Given the description of an element on the screen output the (x, y) to click on. 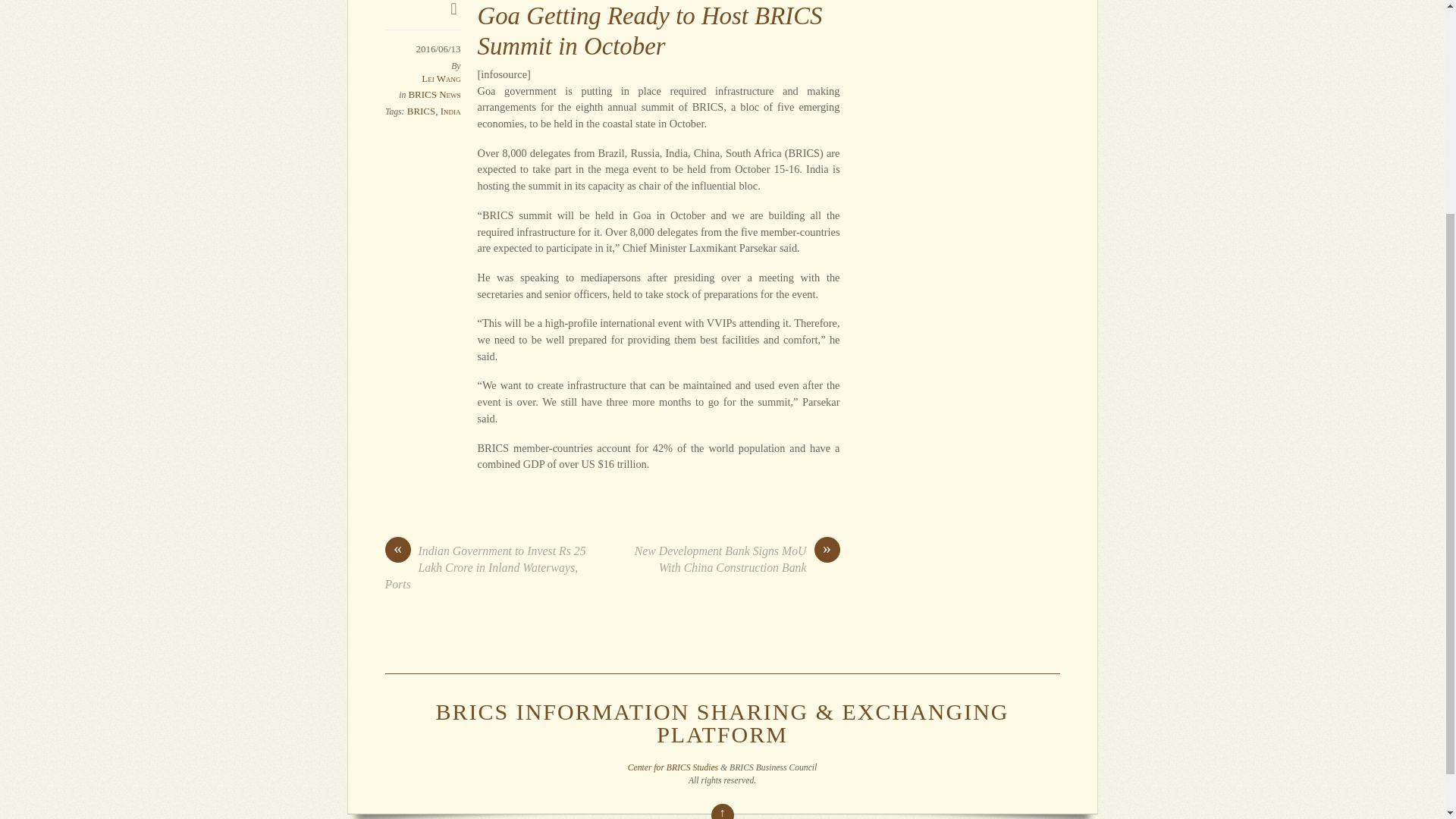
India (451, 111)
Lei Wang (441, 78)
Goa Getting Ready to Host BRICS Summit in October (649, 30)
Center for BRICS Studies (672, 767)
BRICS News (433, 93)
BRICS (421, 111)
